Given the description of an element on the screen output the (x, y) to click on. 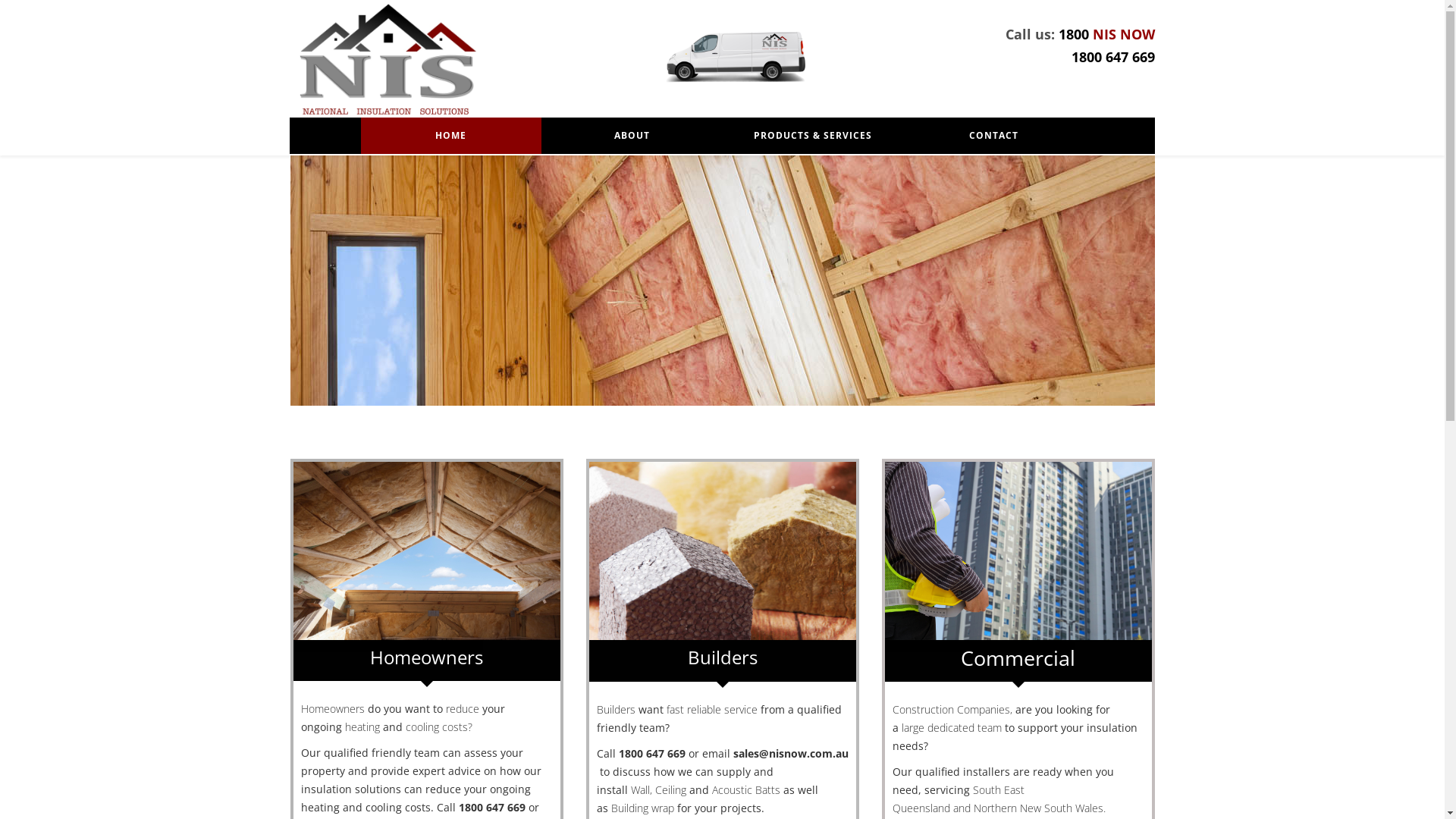
CONTACT Element type: text (993, 135)
1800 647 669 Element type: text (1112, 56)
ABOUT Element type: text (631, 135)
HOME Element type: text (450, 135)
1800 Element type: text (1073, 34)
PRODUCTS & SERVICES Element type: text (812, 135)
